Given the description of an element on the screen output the (x, y) to click on. 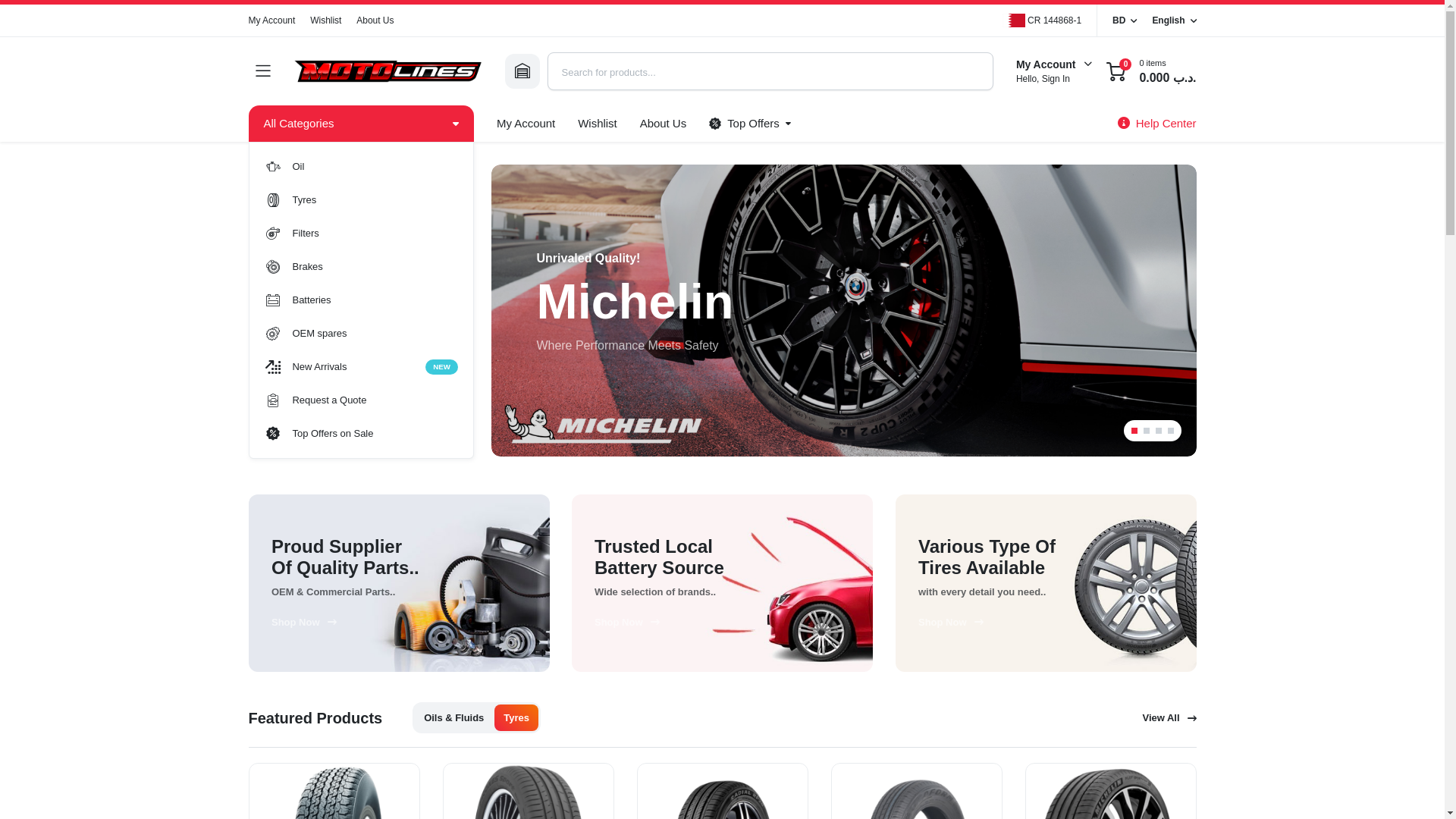
My Account (360, 367)
Batteries (525, 123)
English (360, 299)
Oil (1173, 20)
Top Offers (360, 166)
My Account (749, 123)
Wishlist (271, 20)
About Us (596, 123)
Motolines (662, 123)
Brakes (386, 70)
About Us (360, 266)
Top Offers on Sale (374, 20)
Tyres (360, 433)
All Categories (360, 200)
